Given the description of an element on the screen output the (x, y) to click on. 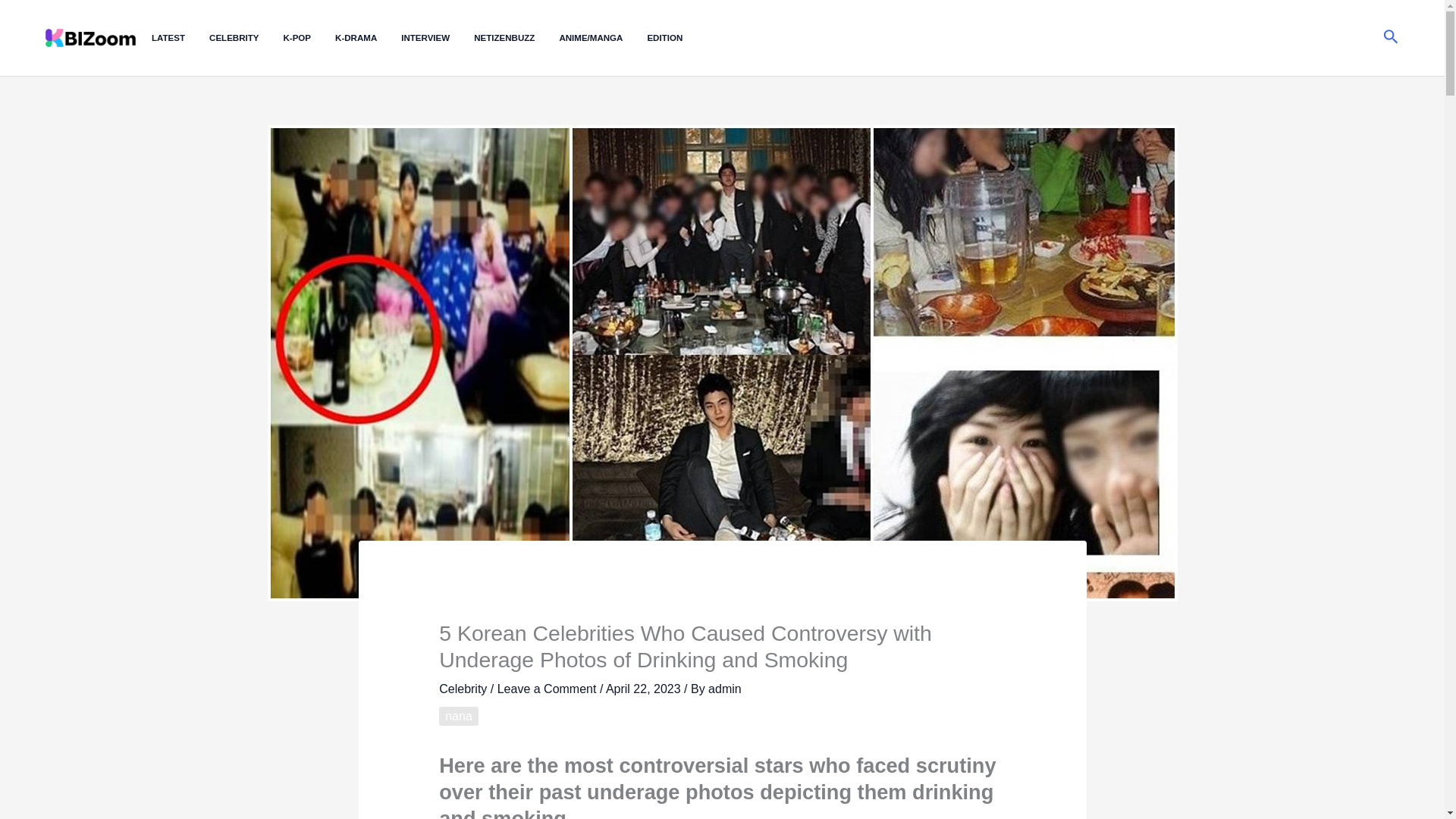
Celebrity (462, 688)
admin (724, 688)
Leave a Comment (546, 688)
View all posts by admin (724, 688)
INTERVIEW (437, 38)
nana (459, 715)
CELEBRITY (245, 38)
NETIZENBUZZ (516, 38)
